Given the description of an element on the screen output the (x, y) to click on. 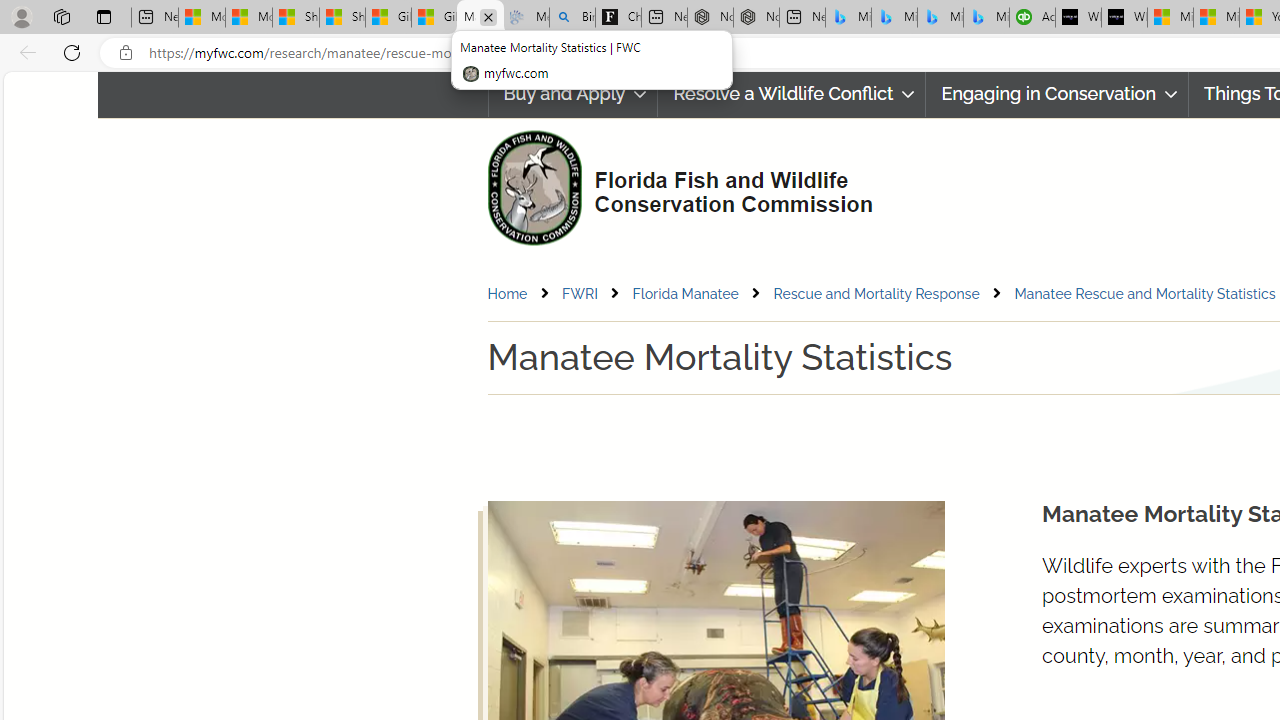
Accounting Software for Accountants, CPAs and Bookkeepers (1031, 17)
Resolve a Wildlife Conflict (791, 94)
New tab (802, 17)
Personal Profile (21, 16)
Florida Manatee (685, 293)
What's the best AI voice generator? - voice.ai (1124, 17)
Nordace - #1 Japanese Best-Seller - Siena Smart Backpack (756, 17)
Chloe Sorvino (618, 17)
Microsoft Bing Travel - Stays in Bangkok, Bangkok, Thailand (893, 17)
Microsoft Bing Travel - Shangri-La Hotel Bangkok (985, 17)
Engaging in Conservation (1057, 94)
Home (522, 293)
Engaging in Conservation (1057, 94)
Tab actions menu (104, 16)
Rescue and Mortality Response (892, 293)
